Given the description of an element on the screen output the (x, y) to click on. 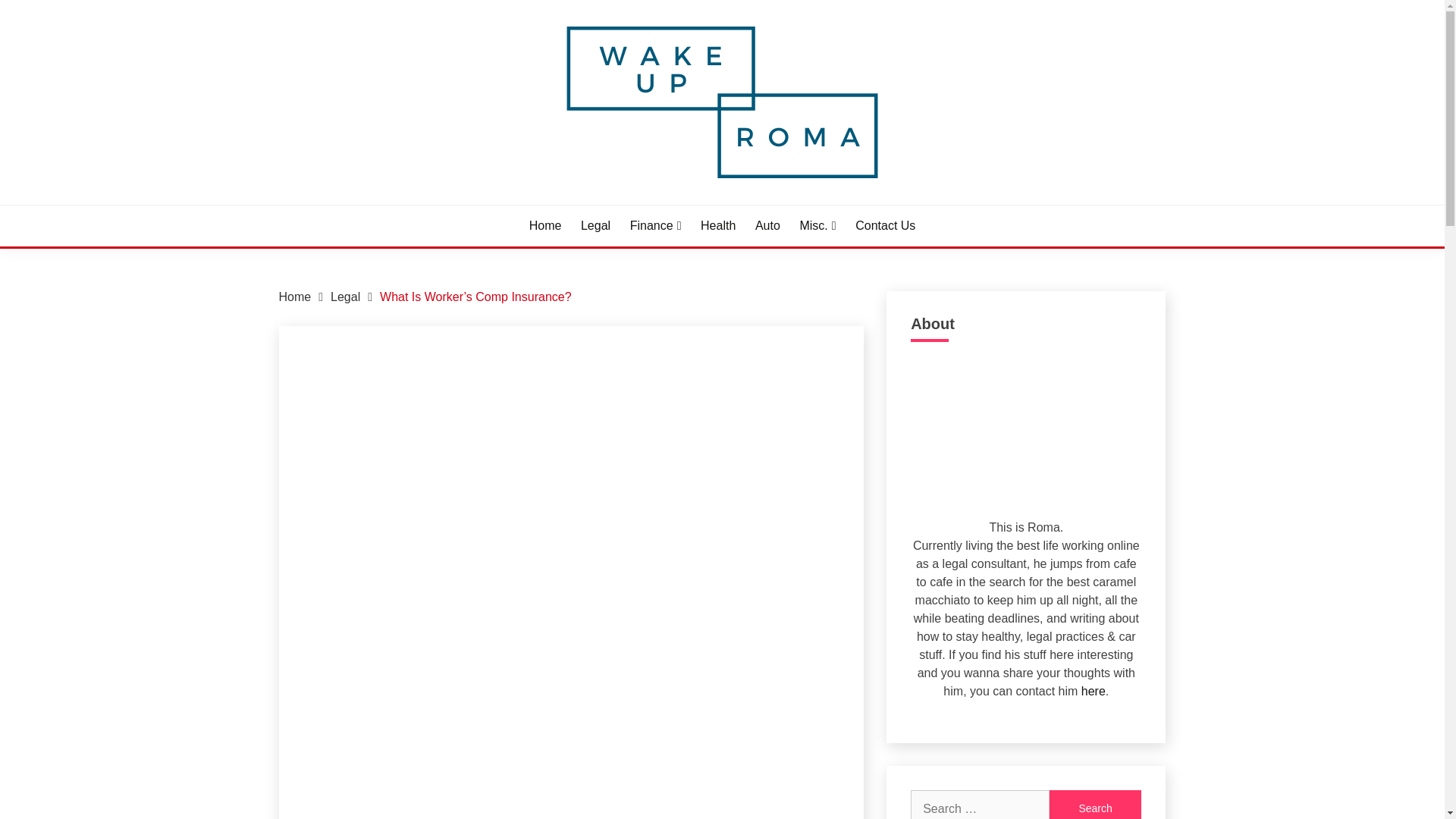
Search (1095, 804)
Health (717, 226)
Misc. (817, 226)
Home (545, 226)
Finance (655, 226)
here (1093, 689)
Search (1095, 804)
Contact Us (885, 226)
WAKE UP ROMA! (395, 202)
Legal (595, 226)
